Given the description of an element on the screen output the (x, y) to click on. 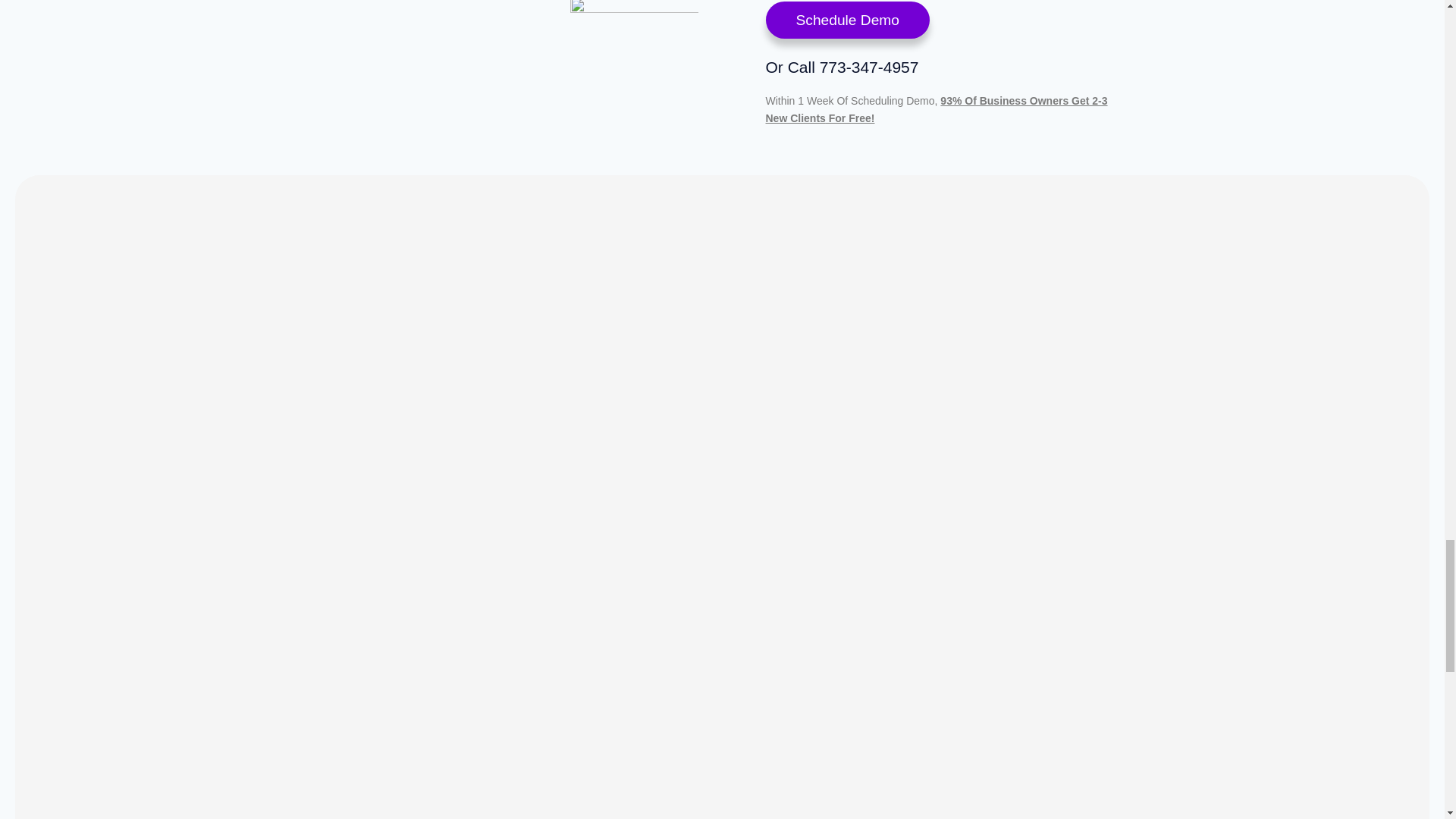
Or Call 773-347-4957 (841, 67)
Schedule Demo (847, 19)
